Given the description of an element on the screen output the (x, y) to click on. 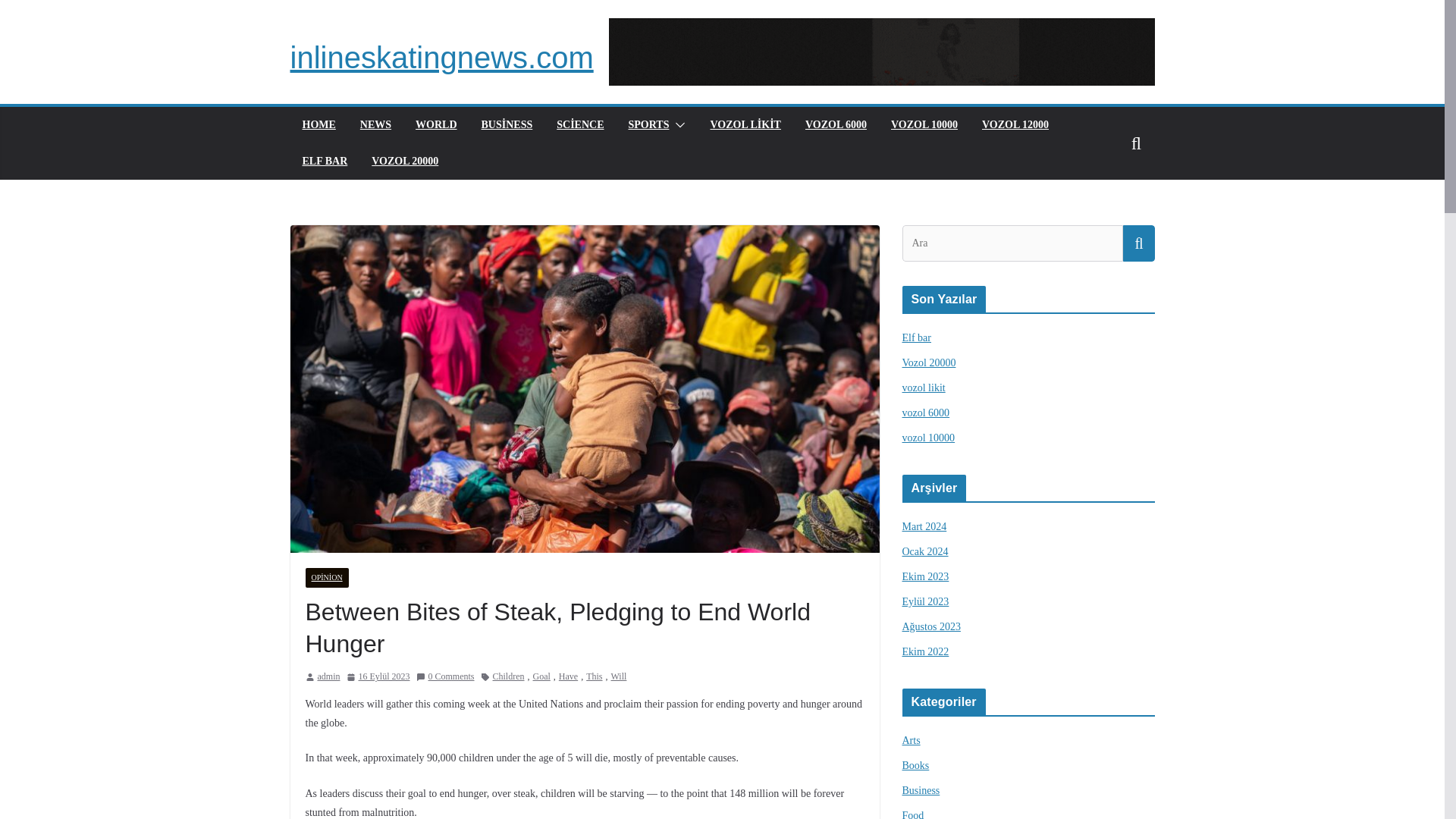
VOZOL 6000 (835, 124)
vozol likit (923, 387)
vozol 6000 (926, 412)
Goal (541, 677)
SPORTS (647, 124)
VOZOL 12000 (1014, 124)
Ocak 2024 (925, 551)
Ekim 2023 (925, 576)
VOZOL LIKIT (745, 124)
Will (619, 677)
SCIENCE (580, 124)
inlineskatingnews.com (440, 57)
Have (568, 677)
16:12 (377, 677)
VOZOL 10000 (924, 124)
